Given the description of an element on the screen output the (x, y) to click on. 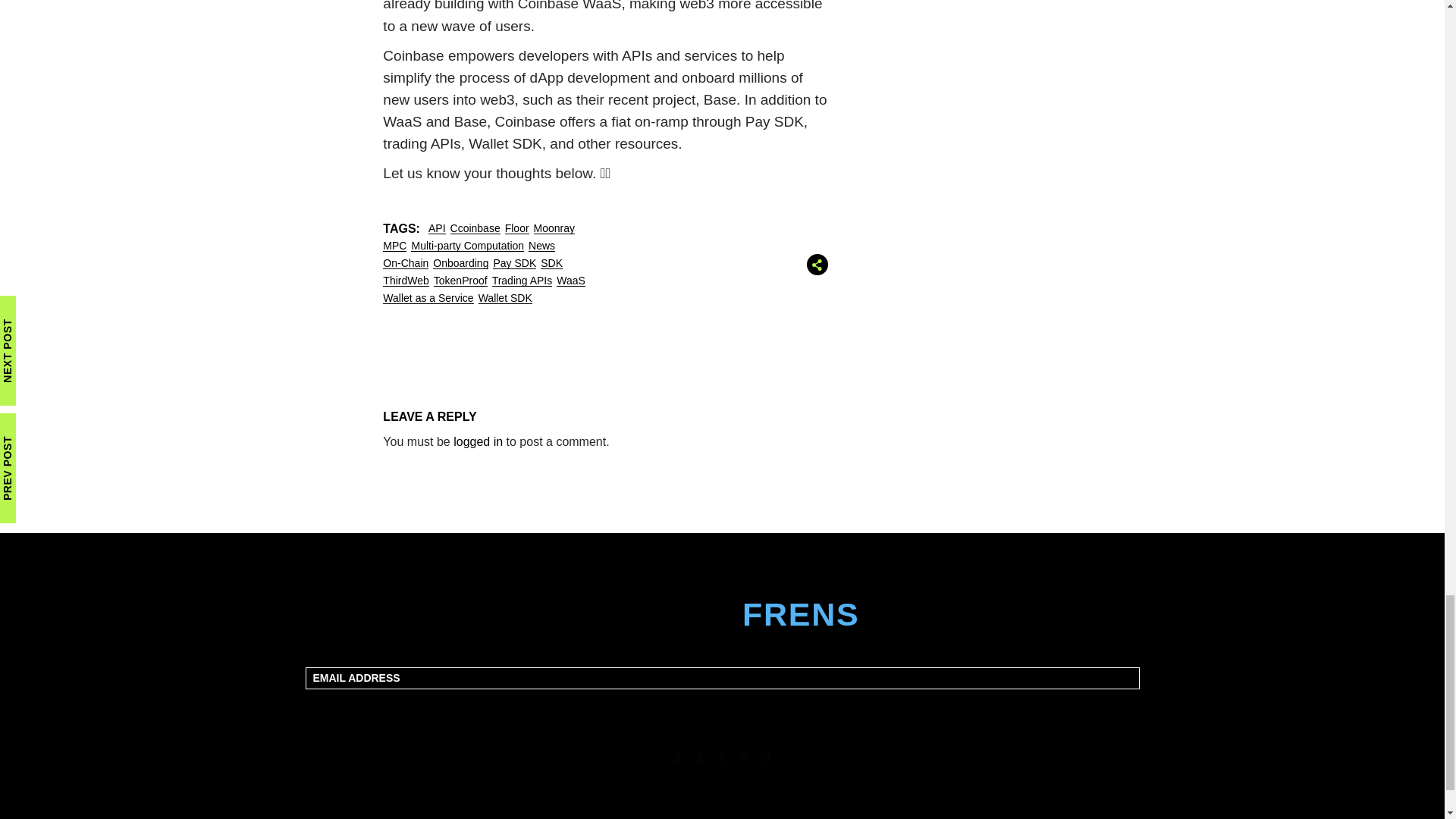
SUBSCRIBE (722, 707)
Moonray (554, 228)
Ccoinbase (474, 228)
Onboarding (459, 263)
Floor (517, 228)
MPC (394, 245)
News (541, 245)
On-Chain (405, 263)
Multi-party Computation (467, 245)
API (436, 228)
